Given the description of an element on the screen output the (x, y) to click on. 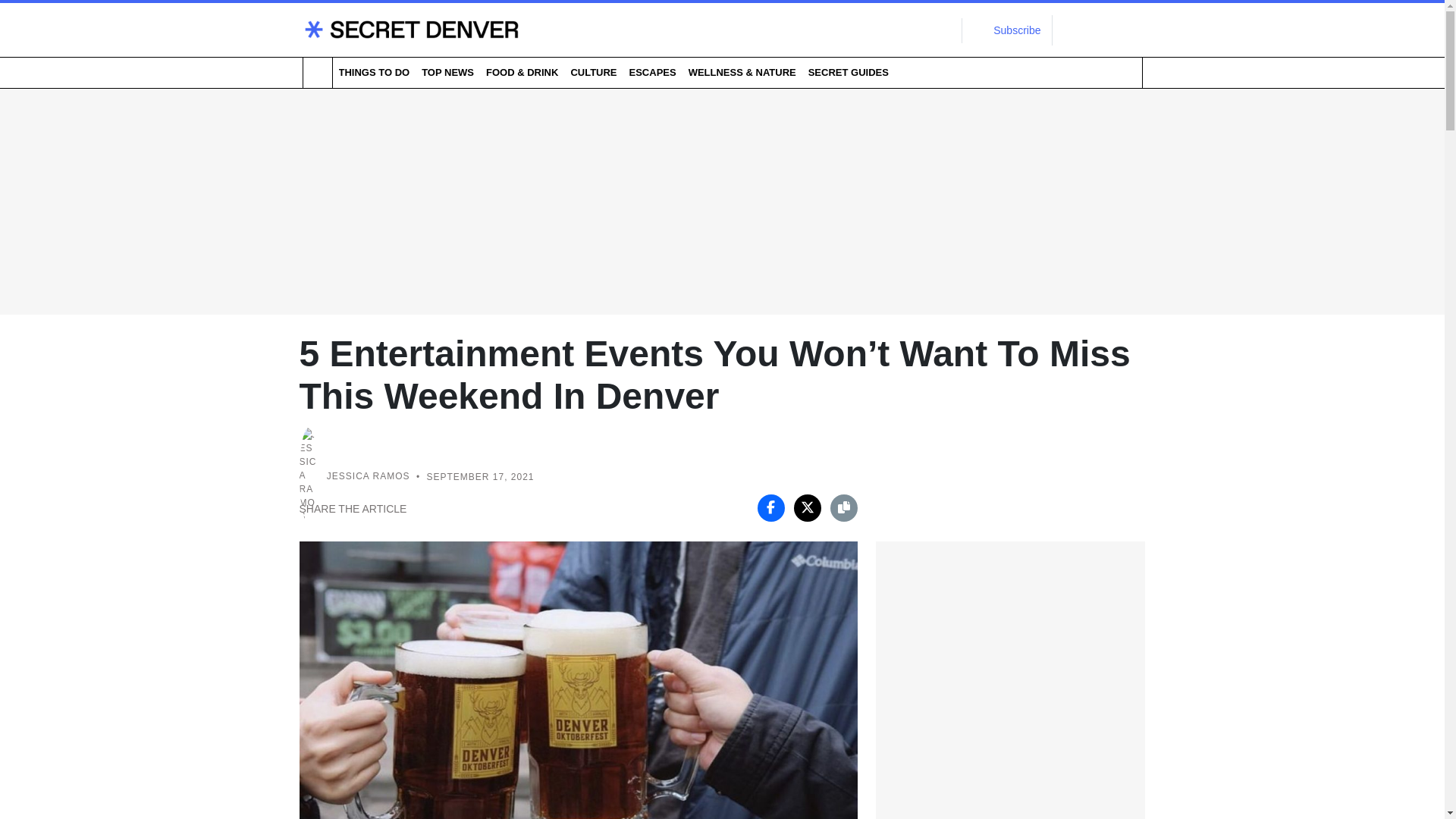
SECRET GUIDES (848, 72)
CULTURE (592, 72)
THINGS TO DO (373, 72)
JESSICA RAMOS (368, 476)
TOP NEWS (448, 72)
ESCAPES (652, 72)
